Given the description of an element on the screen output the (x, y) to click on. 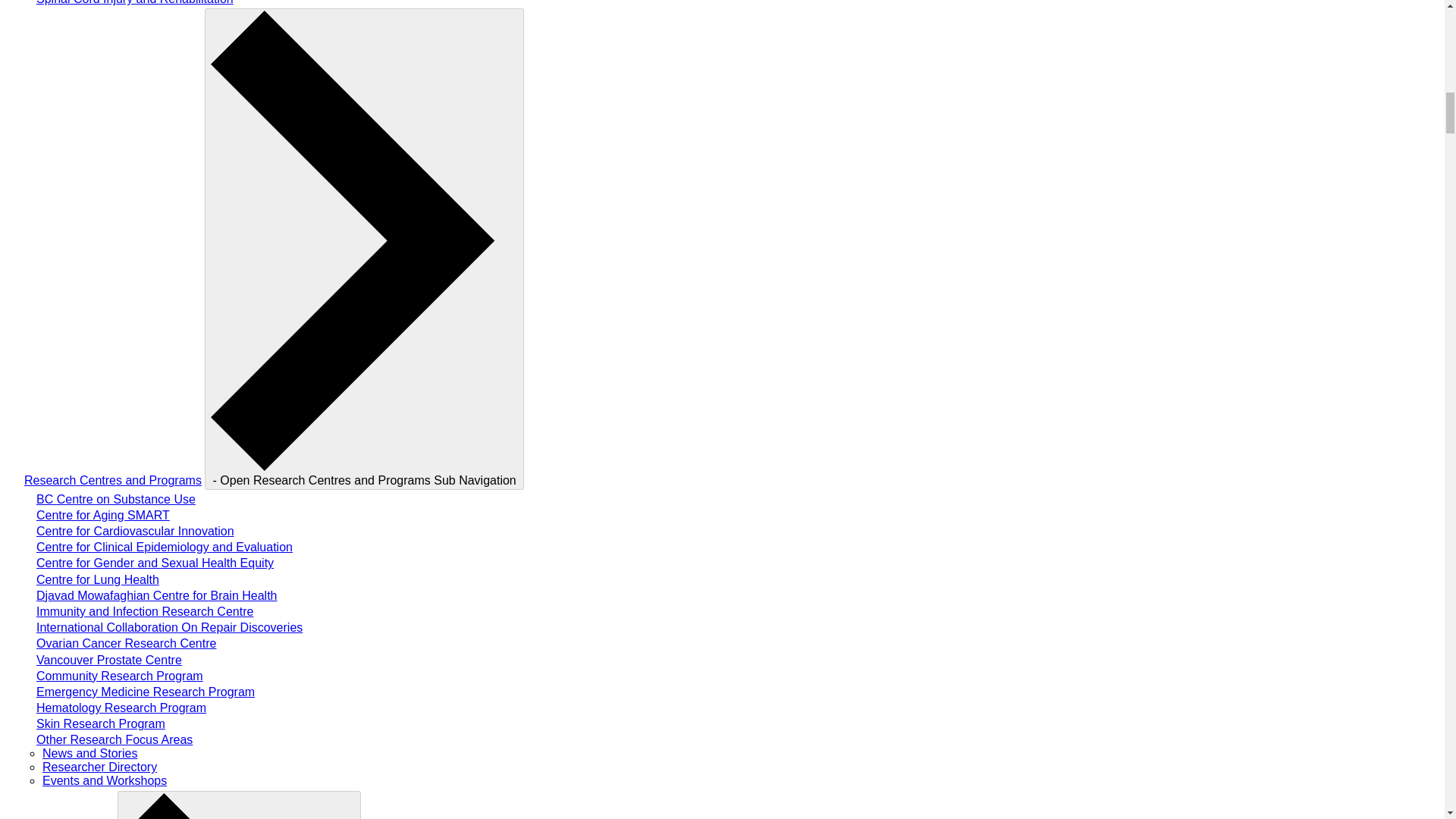
Vancouver Prostate Centre (109, 659)
Centre for Gender and Sexual Health Equity (154, 562)
Immunity and Infection Research Centre (144, 611)
Research Centres and Programs (113, 480)
Hematology Research Program (121, 707)
Centre for Aging SMART (103, 514)
Centre for Lung Health (97, 579)
Community Research Program (119, 675)
Spinal Cord Injury and Rehabilitation (134, 2)
International Collaboration On Repair Discoveries (169, 626)
Ovarian Cancer Research Centre (125, 643)
Emergency Medicine Research Program (145, 691)
BC Centre on Substance Use (115, 499)
Djavad Mowafaghian Centre for Brain Health (157, 594)
Centre for Cardiovascular Innovation (135, 530)
